Given the description of an element on the screen output the (x, y) to click on. 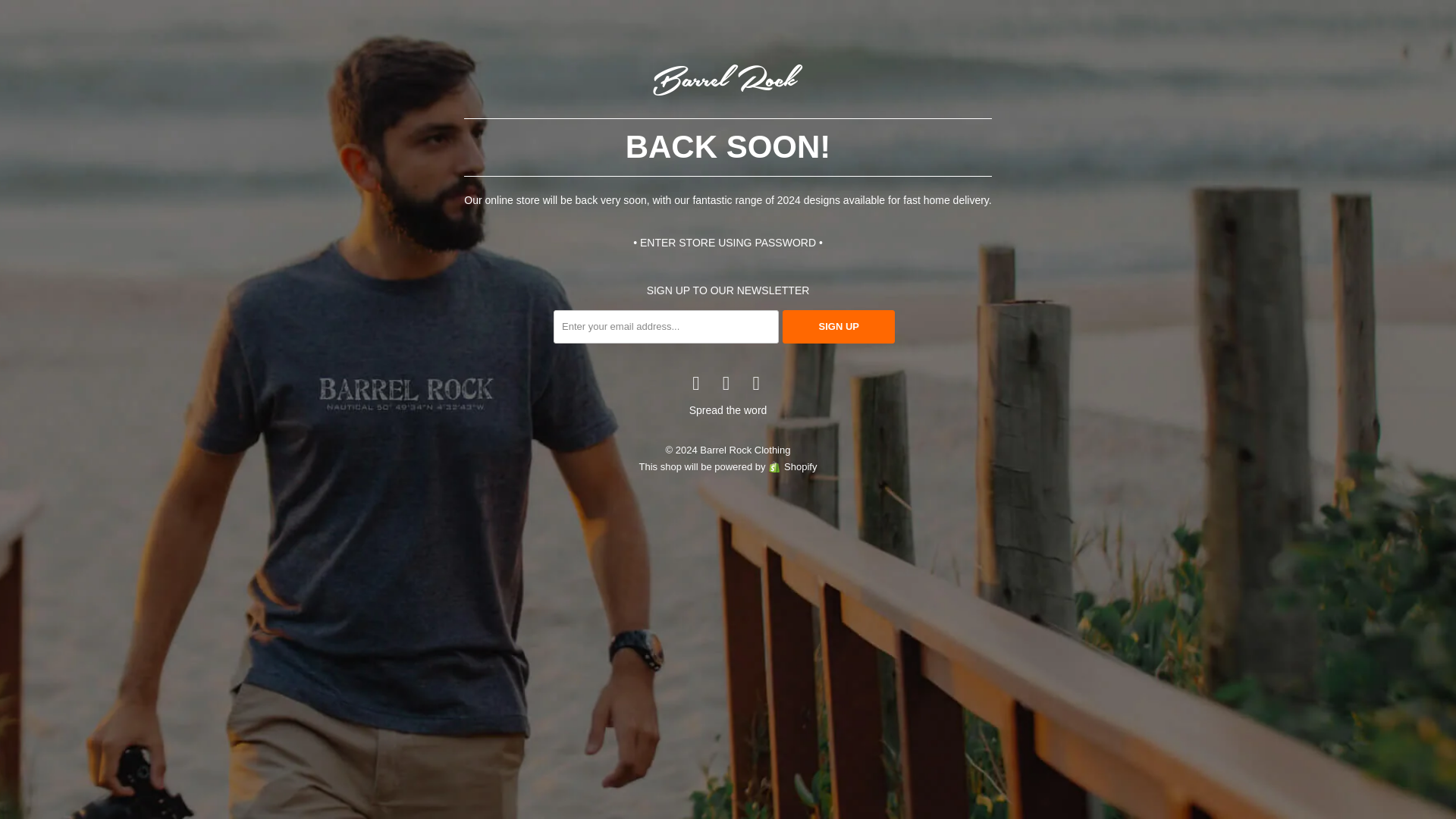
Barrel Rock Clothing on Instagram (757, 382)
Enter (807, 394)
Sign Up (839, 326)
Barrel Rock Clothing on Facebook (695, 382)
Barrel Rock Clothing on YouTube (726, 382)
Sign Up (839, 326)
